Given the description of an element on the screen output the (x, y) to click on. 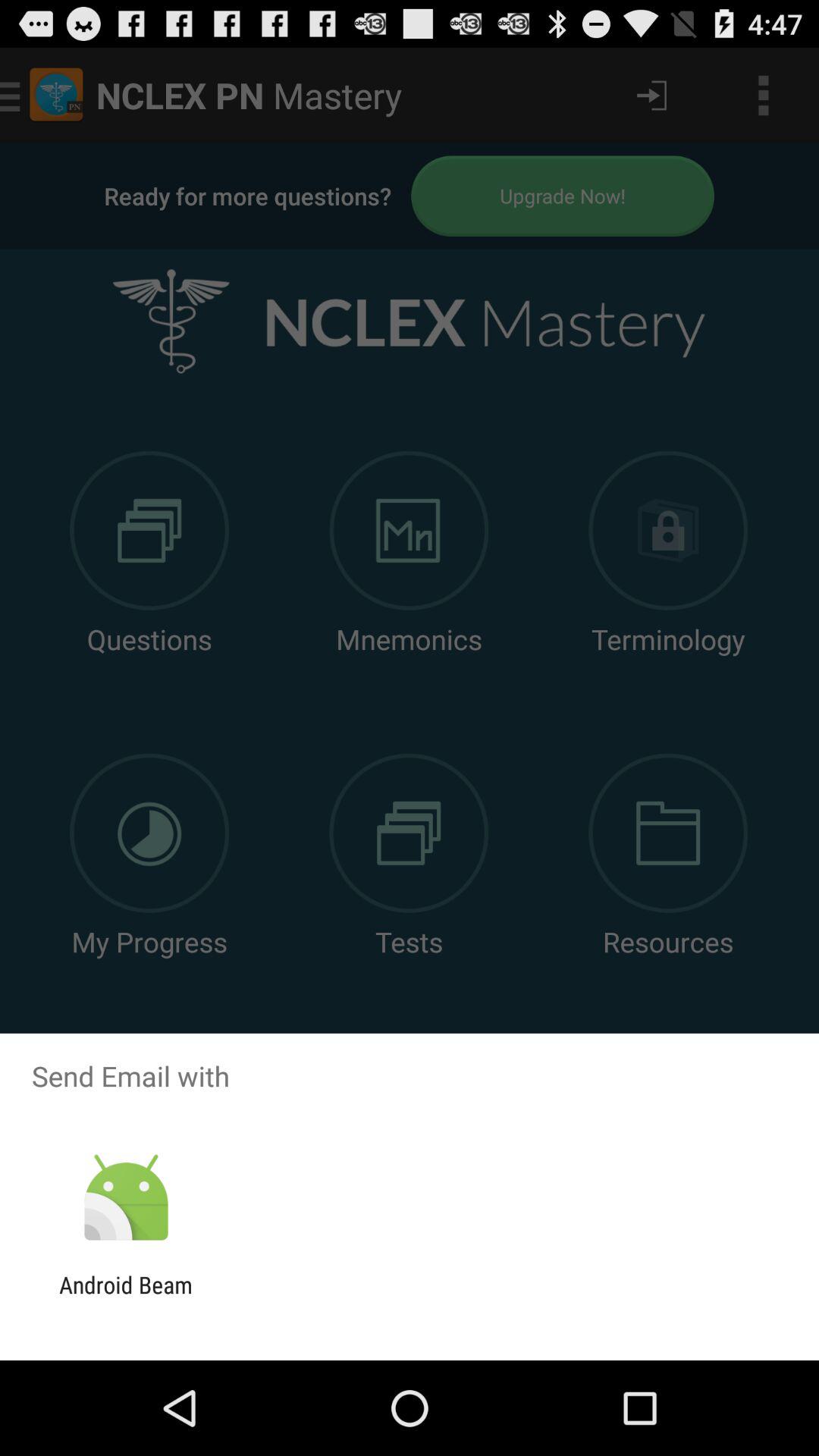
tap the android beam (125, 1298)
